Given the description of an element on the screen output the (x, y) to click on. 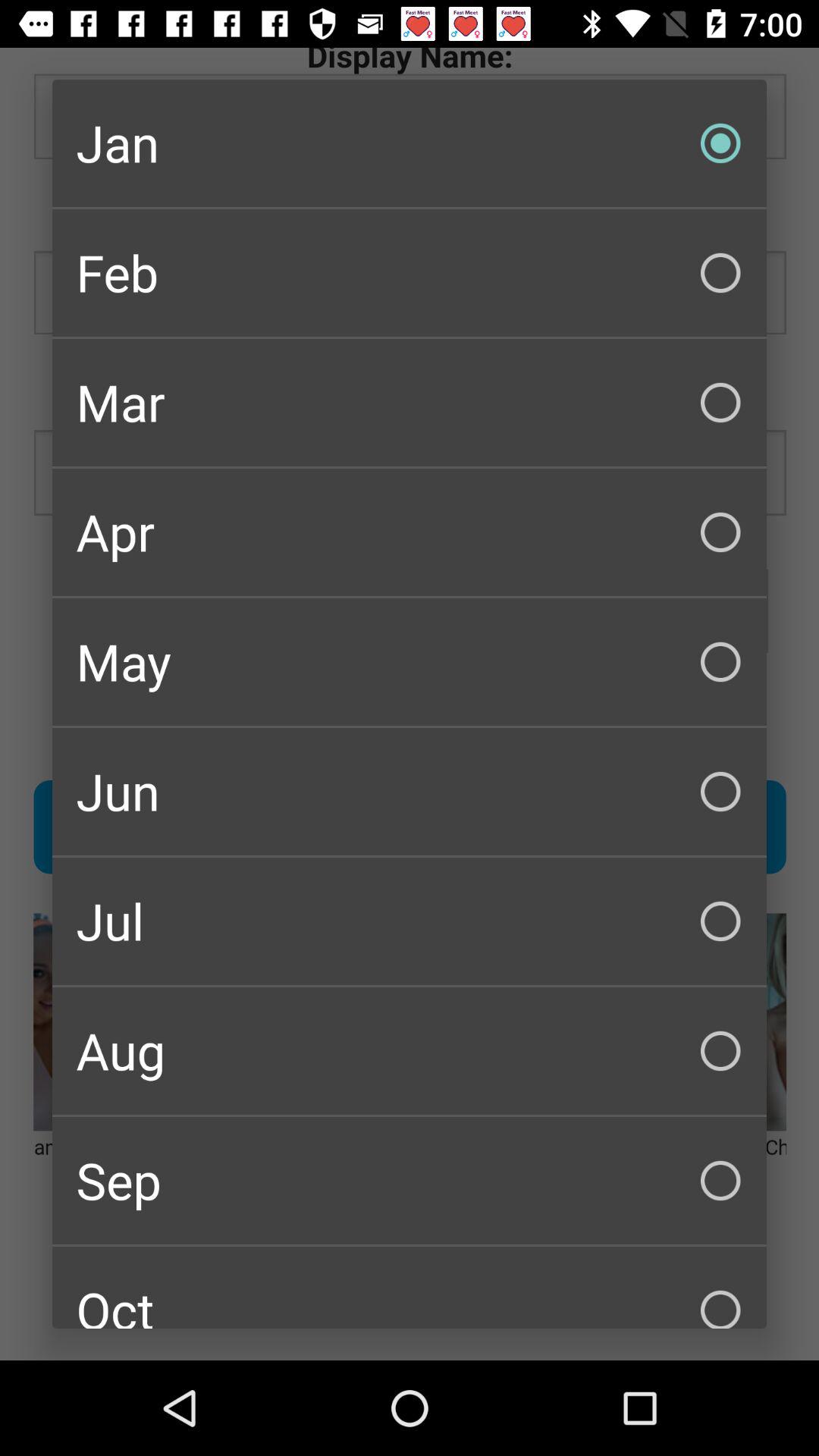
select item below the mar checkbox (409, 532)
